Given the description of an element on the screen output the (x, y) to click on. 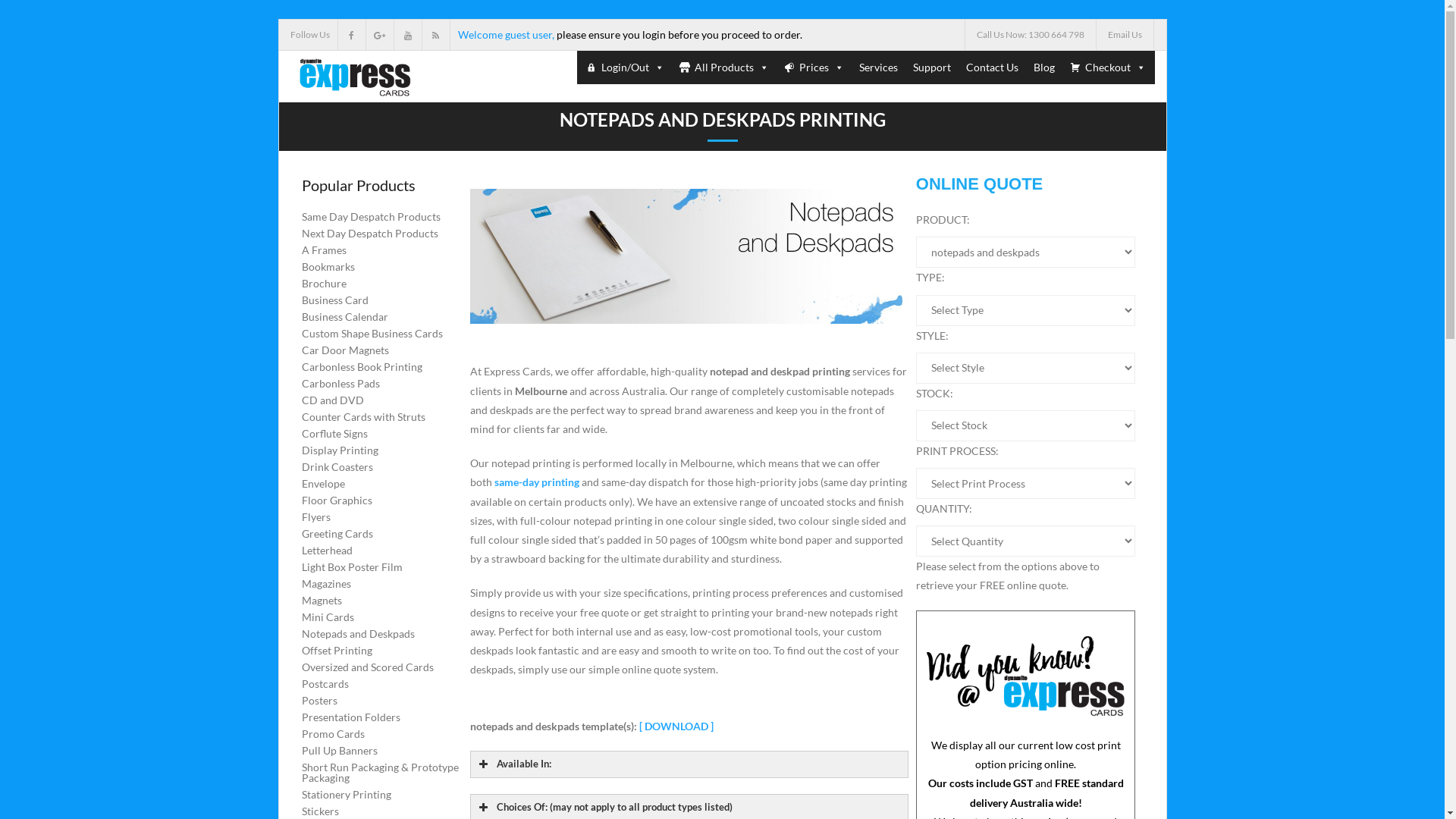
Posters Element type: text (319, 700)
same-day printing Element type: text (536, 481)
All Products Element type: text (723, 67)
Greeting Cards Element type: text (337, 533)
Presentation Folders Element type: text (350, 717)
Mini Cards Element type: text (327, 616)
Short Run Packaging & Prototype Packaging Element type: text (381, 772)
Postcards Element type: text (324, 683)
Login/Out Element type: text (624, 67)
Magnets Element type: text (321, 600)
Light Box Poster Film Element type: text (351, 566)
Stationery Printing Element type: text (346, 794)
Carbonless Pads Element type: text (340, 383)
Call Us Now: 1300 664 798 Element type: text (1029, 34)
Flyers Element type: text (315, 516)
Custom Shape Business Cards Element type: text (371, 333)
CD and DVD Element type: text (332, 400)
Drink Coasters Element type: text (337, 466)
Notepads and Deskpads Element type: text (357, 633)
Business Calendar Element type: text (344, 316)
Magazines Element type: text (326, 583)
Checkout Element type: text (1106, 67)
Prices Element type: text (813, 67)
Business Card Element type: text (334, 299)
Email Us Element type: text (1124, 34)
Services Element type: text (877, 67)
Car Door Magnets Element type: text (345, 350)
Pull Up Banners Element type: text (339, 750)
Envelope Element type: text (323, 483)
Bookmarks printing Element type: hover (689, 255)
[ DOWNLOAD ] Element type: text (675, 725)
Letterhead Element type: text (326, 550)
Next Day Despatch Products Element type: text (369, 233)
Carbonless Book Printing Element type: text (361, 366)
LOGIN Element type: text (744, 242)
Floor Graphics Element type: text (336, 500)
Contact Us Element type: text (992, 67)
Brochure Element type: text (323, 283)
Oversized and Scored Cards Element type: text (367, 666)
Support Element type: text (931, 67)
A Frames Element type: text (323, 249)
Promo Cards Element type: text (332, 733)
Counter Cards with Struts Element type: text (363, 416)
Corflute Signs Element type: text (334, 433)
Offset Printing Element type: text (336, 650)
Display Printing Element type: text (339, 450)
Bookmarks Element type: text (327, 266)
Blog Element type: text (1043, 67)
Same Day Despatch Products Element type: text (370, 216)
